Given the description of an element on the screen output the (x, y) to click on. 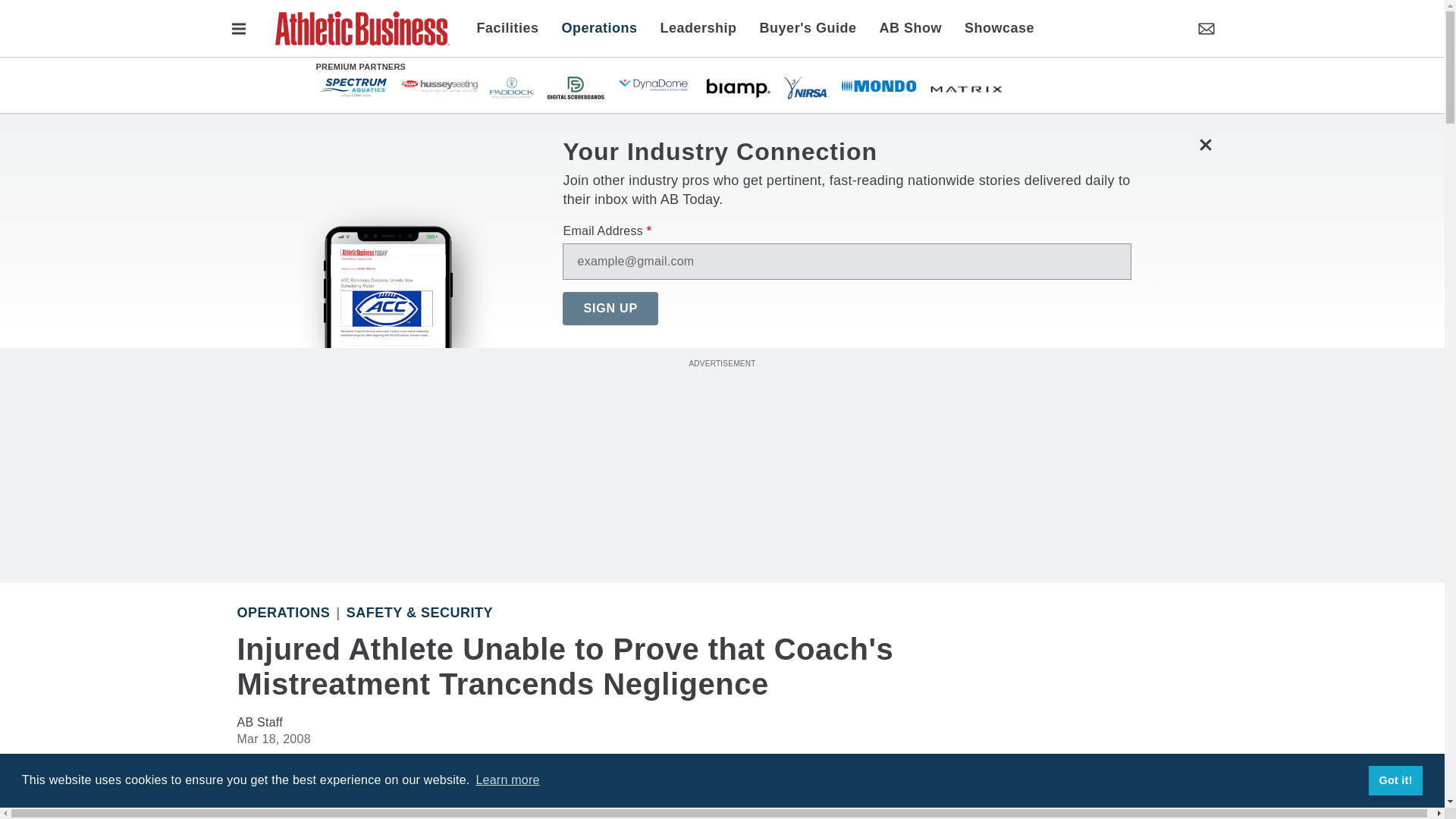
Digital Scoreboards (575, 87)
Spectrum Aquatics (353, 87)
Showcase (993, 27)
Matrix Fitness (968, 87)
Paddock Pool Equipment (512, 87)
DynaDome Retractable Enclosures (653, 85)
Hussey Seating Company (439, 85)
Mondo (879, 85)
AB Show (910, 27)
Facilities (513, 27)
Biamp Systems (737, 87)
Buyer's Guide (807, 27)
Leadership (698, 27)
Operations (599, 27)
SIGN UP (610, 308)
